Given the description of an element on the screen output the (x, y) to click on. 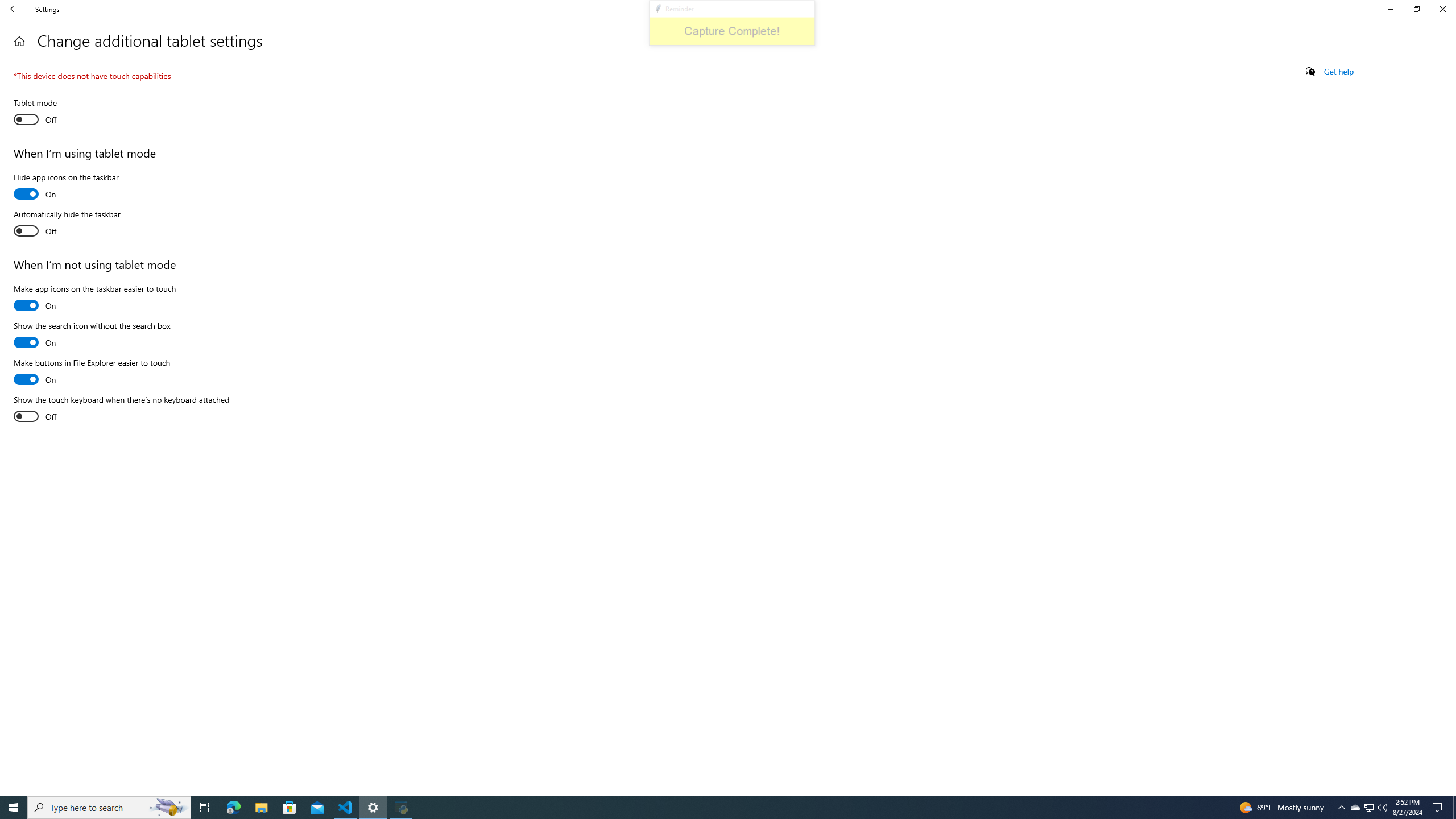
Make app icons on the taskbar easier to touch (94, 298)
Automatically hide the taskbar (66, 223)
Restore Settings (1416, 9)
Settings - 1 running window (373, 807)
Show the search icon without the search box (91, 335)
Home (19, 40)
